Given the description of an element on the screen output the (x, y) to click on. 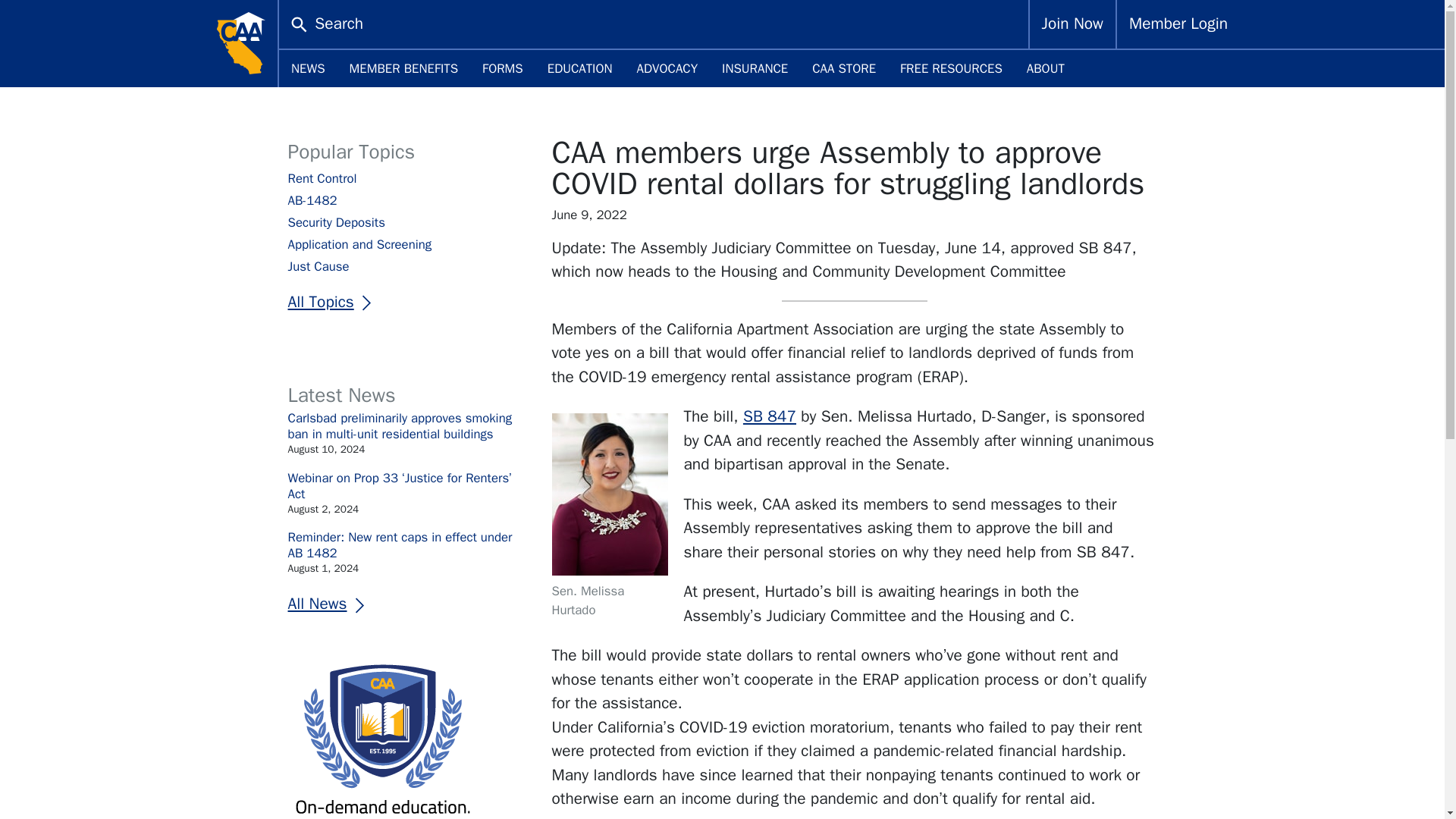
FORMS (502, 67)
ADVOCACY (667, 67)
EDUCATION (579, 67)
INSURANCE (754, 67)
Join Now (1072, 24)
MEMBER BENEFITS (403, 67)
NEWS (308, 67)
CAA STORE (843, 67)
FREE RESOURCES (951, 67)
Member Login (1178, 24)
